Given the description of an element on the screen output the (x, y) to click on. 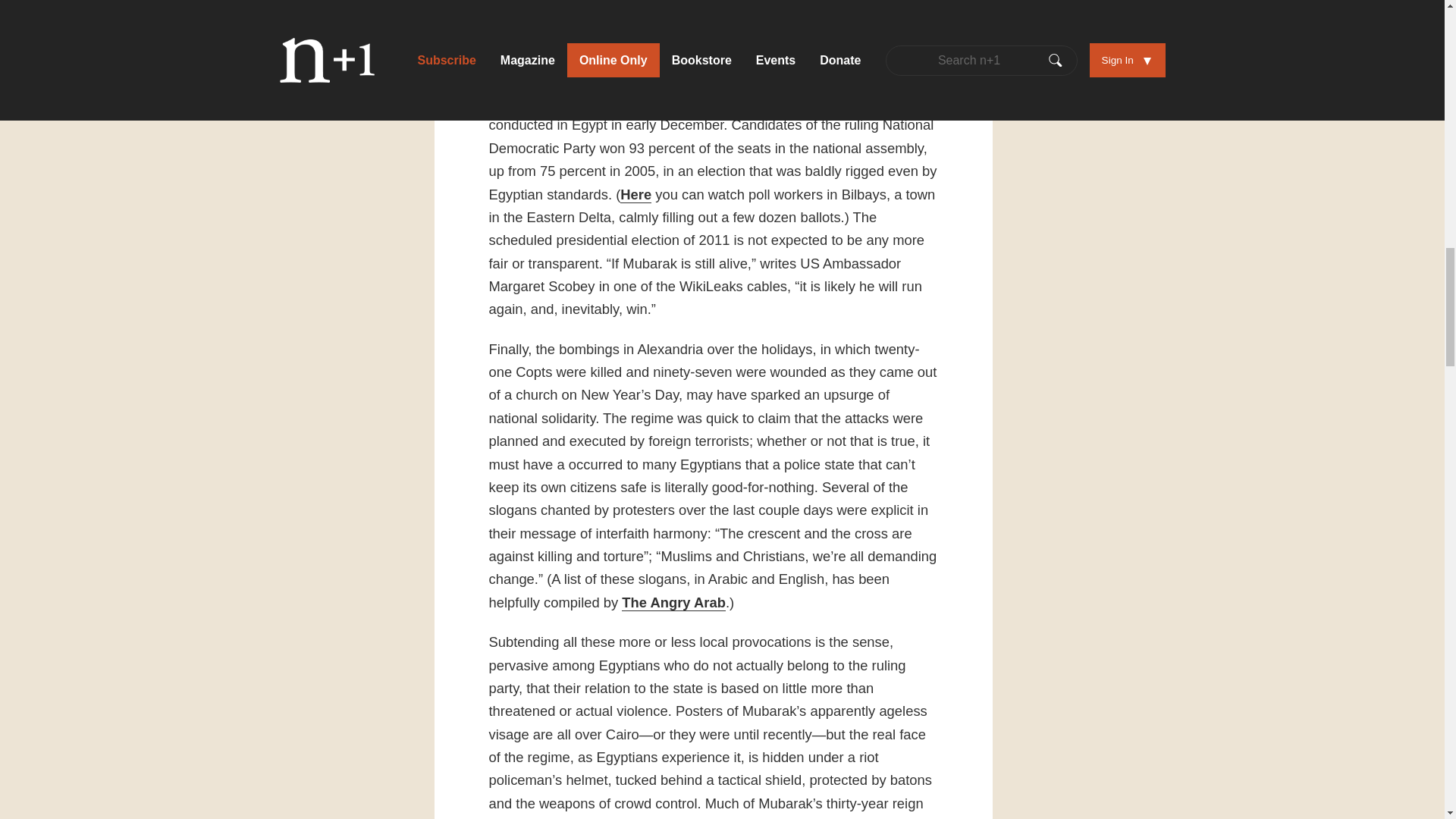
The Angry Arab (673, 602)
Here (635, 194)
